Given the description of an element on the screen output the (x, y) to click on. 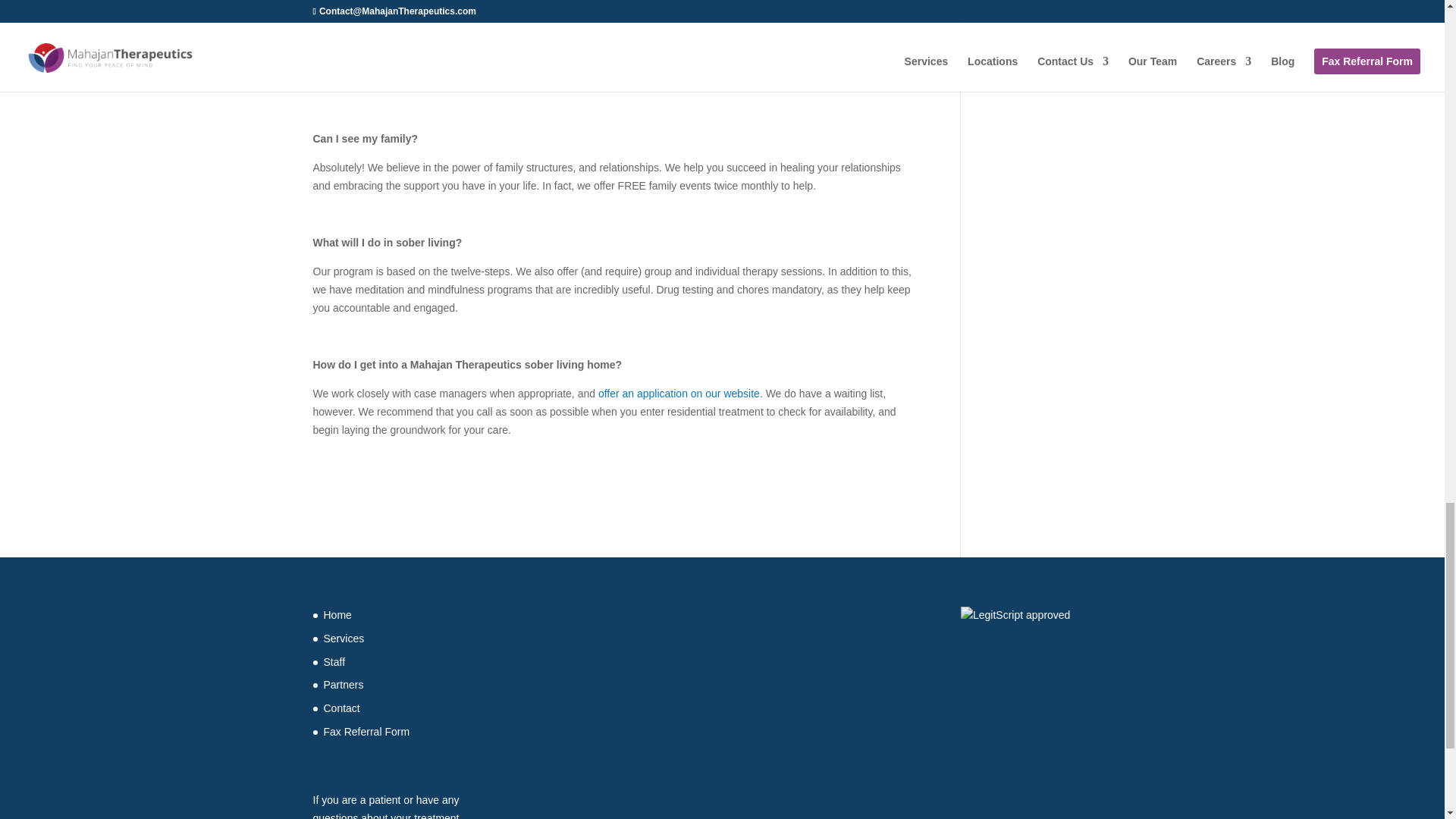
offer an application on our website (679, 393)
